Given the description of an element on the screen output the (x, y) to click on. 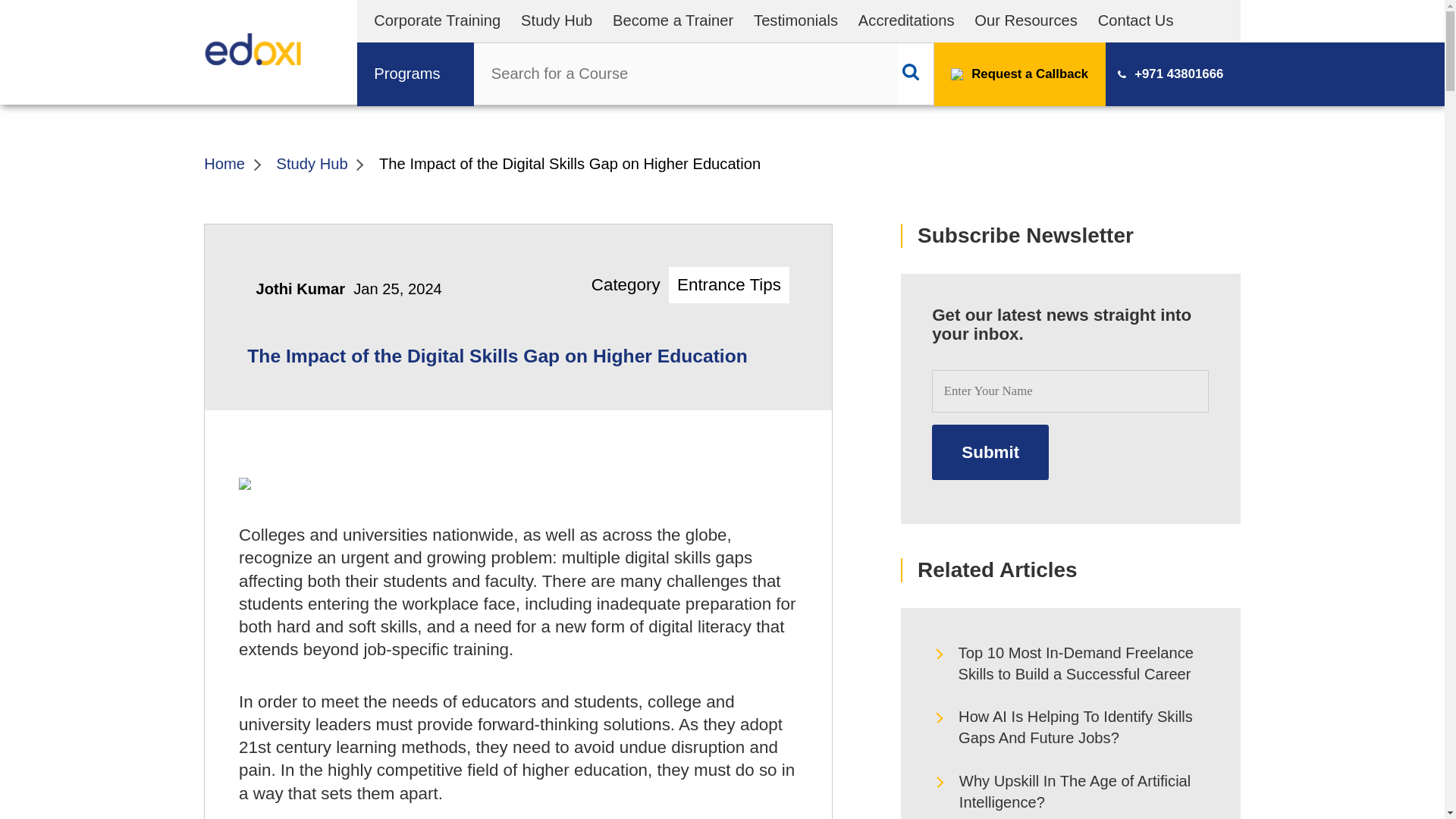
Study Hub (556, 20)
Accreditations (907, 20)
Our Resources (1025, 20)
Corporate Training (437, 20)
Testimonials (796, 20)
Become a Trainer (672, 20)
Contact Us (1135, 20)
